Given the description of an element on the screen output the (x, y) to click on. 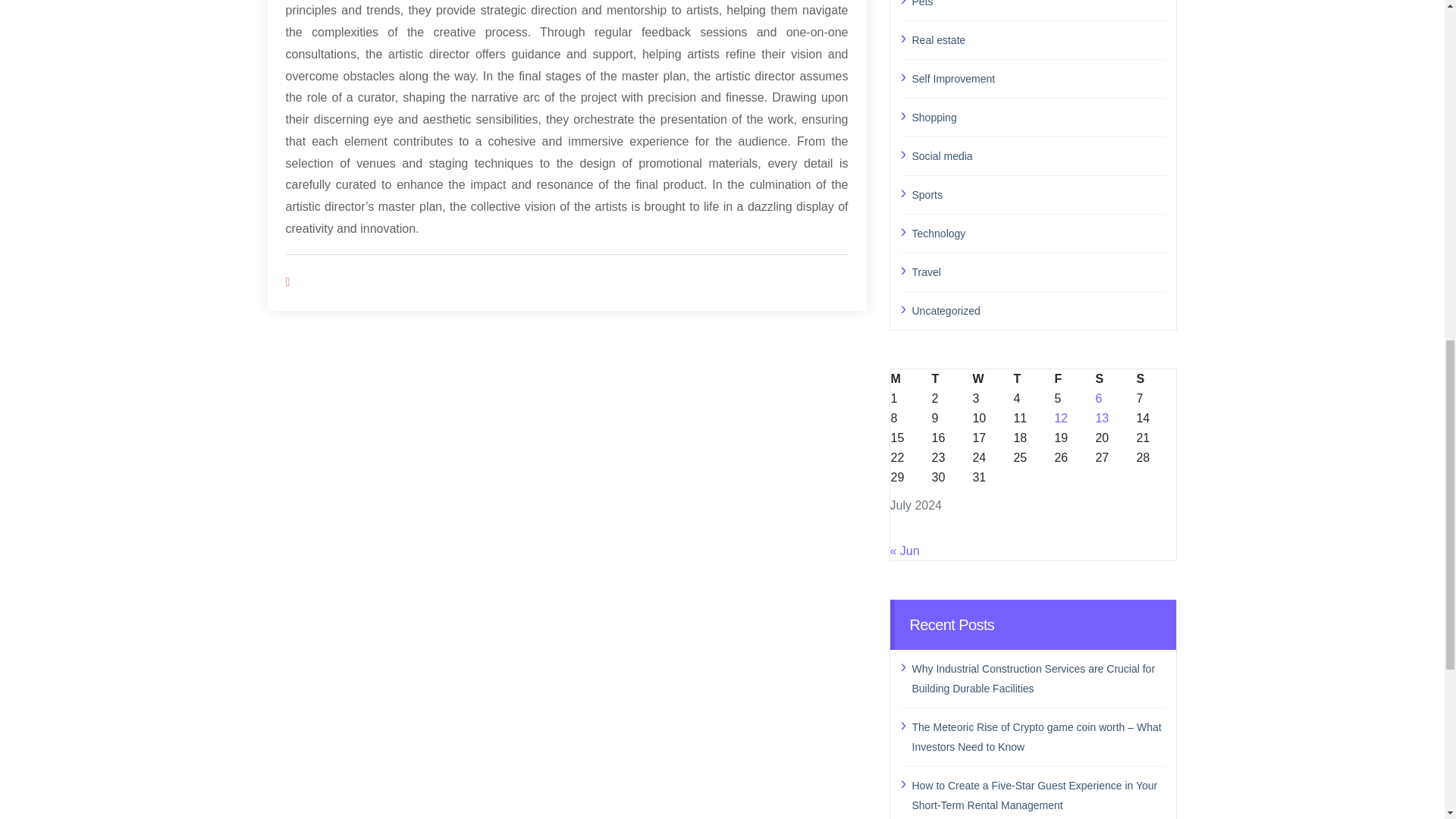
Tuesday (950, 378)
Saturday (1114, 378)
Self Improvement (1038, 77)
Social media (1038, 155)
Thursday (1031, 378)
Monday (910, 378)
12 (1060, 417)
Friday (1073, 378)
Technology (1038, 232)
Travel (1038, 271)
Real estate (1038, 39)
Pets (1038, 5)
Sunday (1155, 378)
Wednesday (991, 378)
Shopping (1038, 117)
